Given the description of an element on the screen output the (x, y) to click on. 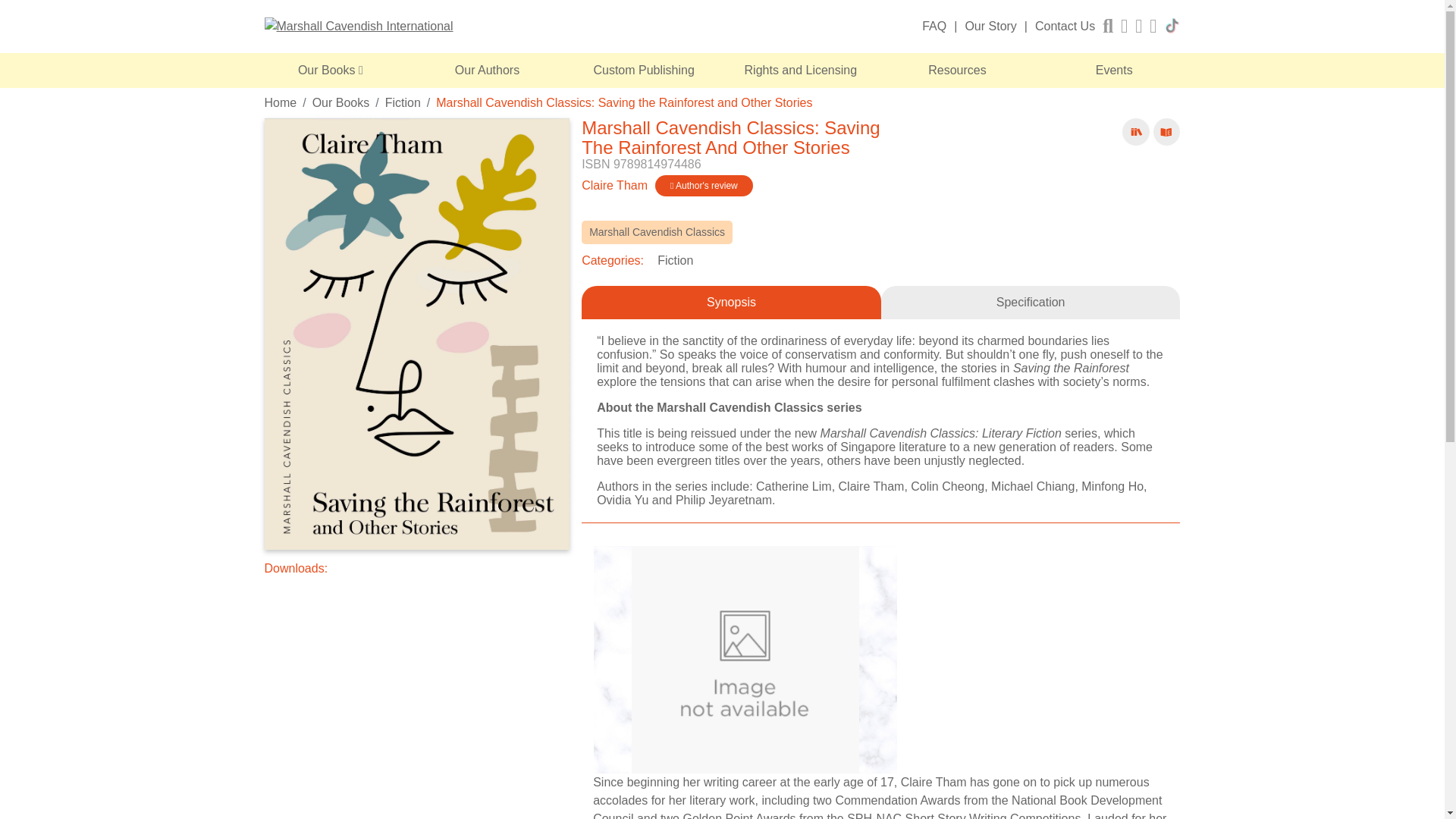
Our Books (330, 70)
Rights and Licensing (800, 70)
Our Authors (487, 70)
FAQ (933, 25)
Our Story (989, 25)
E-Book (1166, 131)
Custom Publishing (644, 70)
Book (1136, 131)
Resources (957, 70)
Contact Us (1064, 25)
Events (1113, 70)
